Given the description of an element on the screen output the (x, y) to click on. 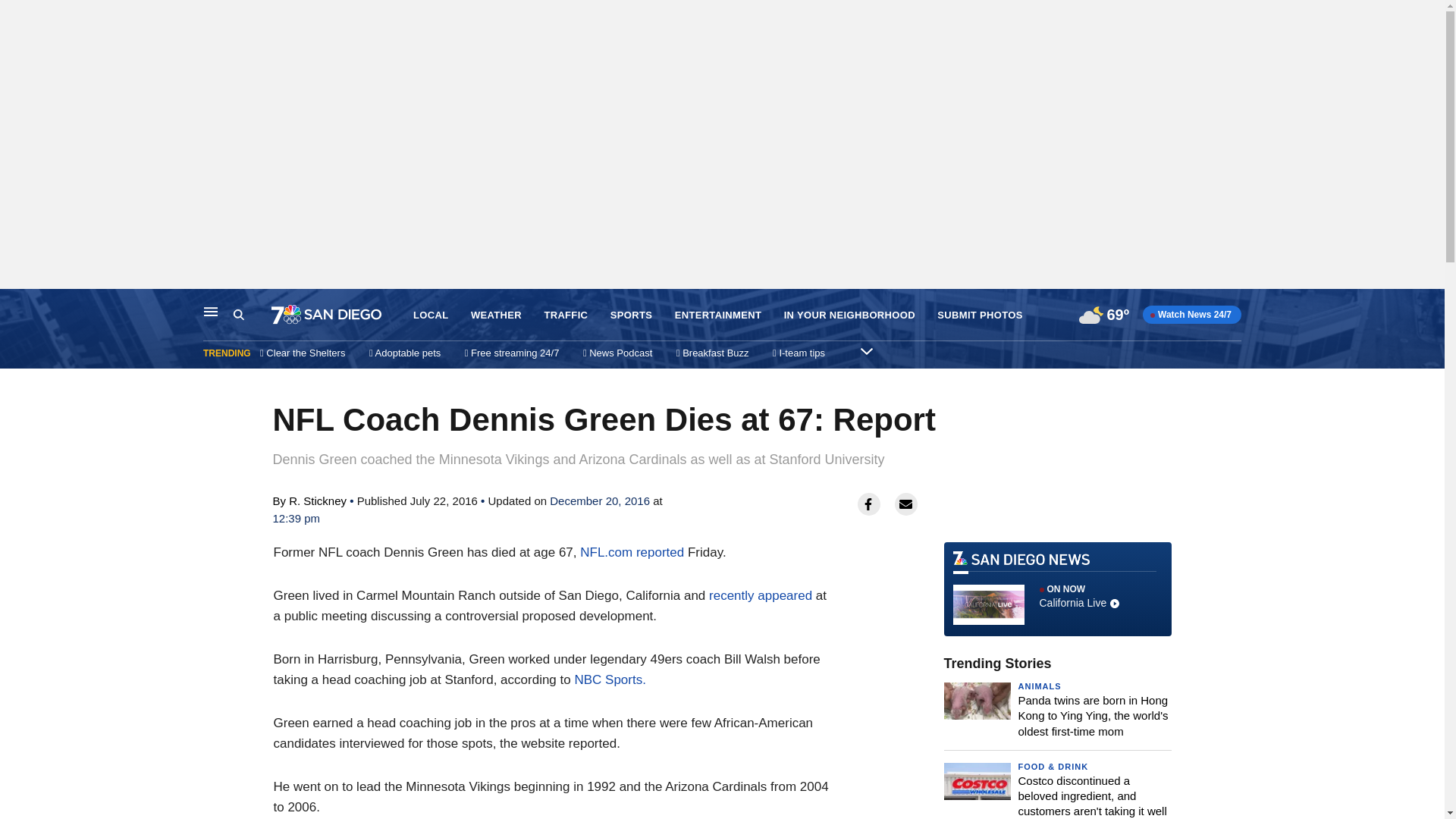
NFL.com reported (631, 552)
Search (252, 314)
Skip to content (16, 304)
ENTERTAINMENT (718, 315)
Expand (866, 350)
ANIMALS (1039, 686)
WEATHER (495, 315)
